Given the description of an element on the screen output the (x, y) to click on. 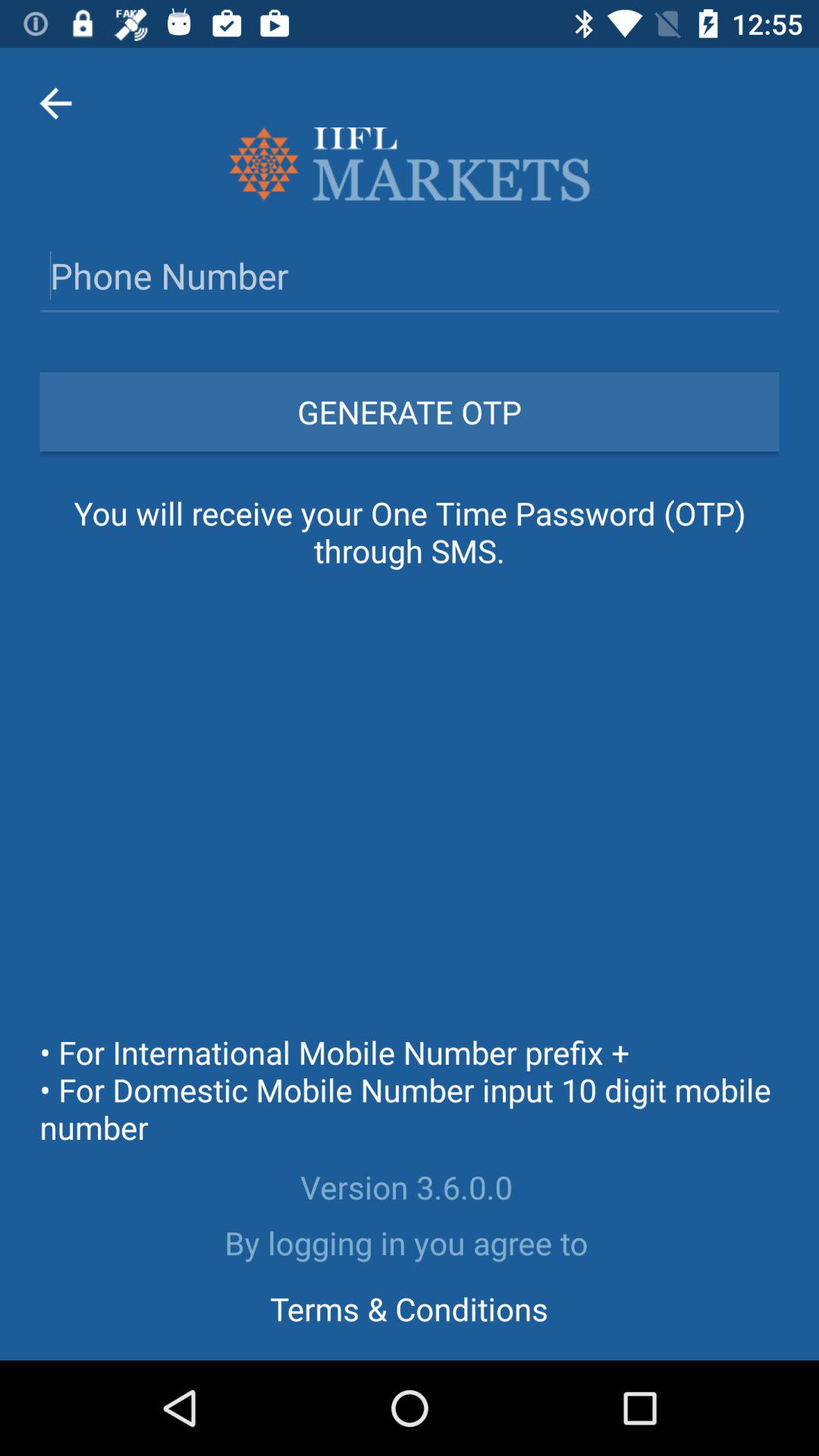
jump until terms & conditions icon (409, 1308)
